Given the description of an element on the screen output the (x, y) to click on. 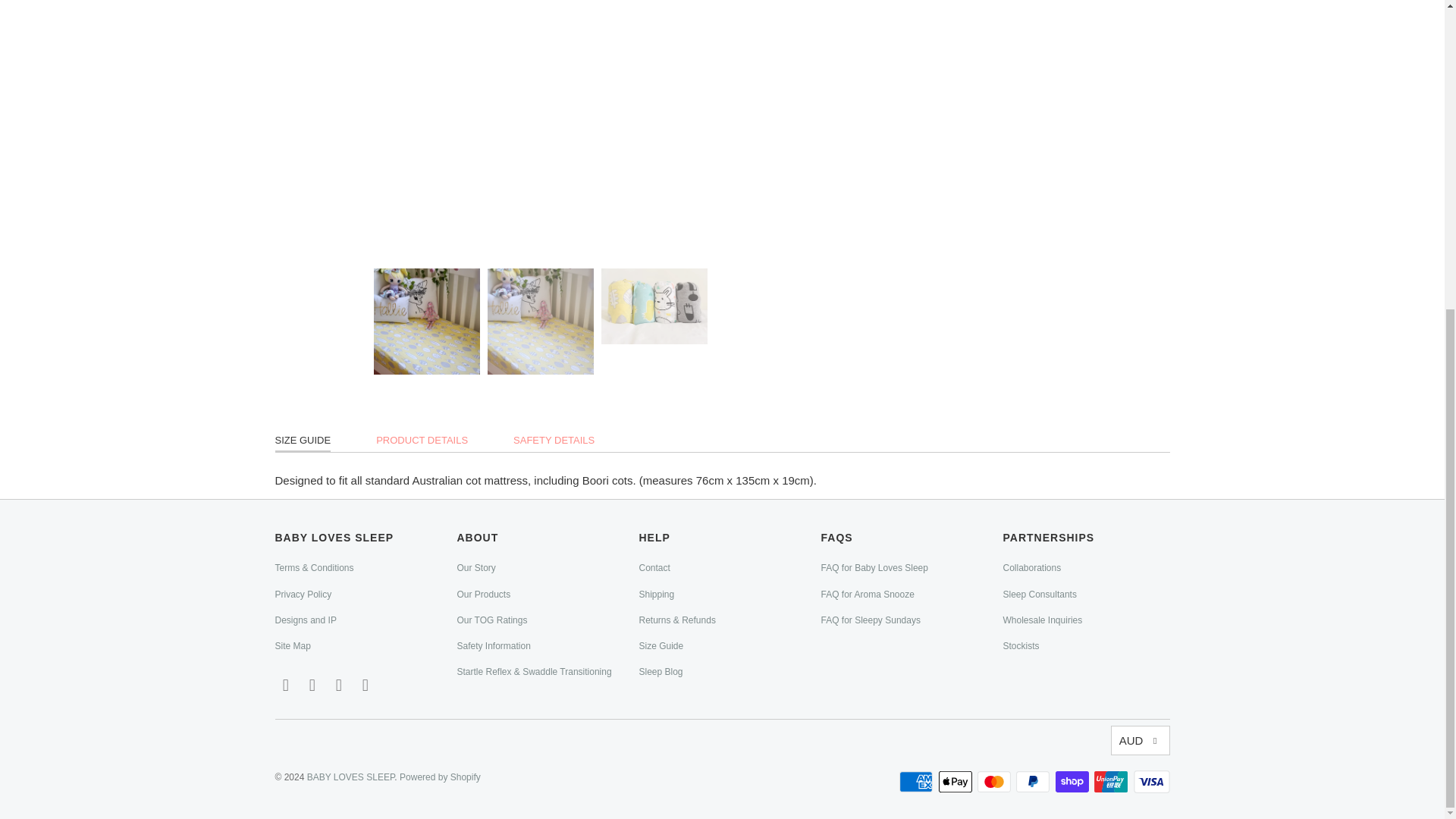
Union Pay (1112, 781)
Apple Pay (957, 781)
Visa (1150, 781)
American Express (917, 781)
PayPal (1034, 781)
Email BABY LOVES SLEEP (286, 685)
BABY LOVES SLEEP on YouTube (366, 685)
BABY LOVES SLEEP on Facebook (312, 685)
BABY LOVES SLEEP on Instagram (339, 685)
Mastercard (994, 781)
